Given the description of an element on the screen output the (x, y) to click on. 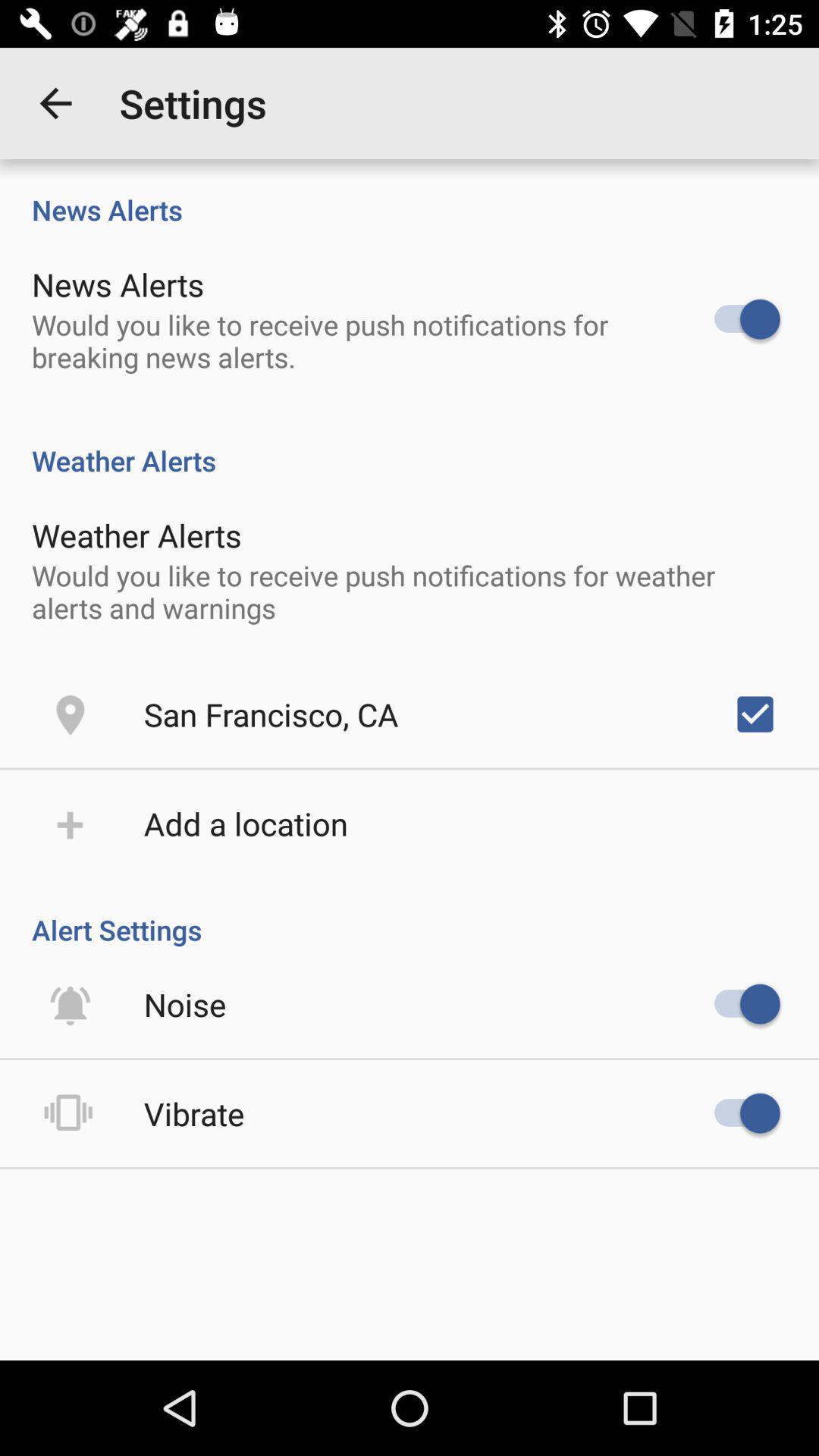
select icon below would you like item (755, 714)
